Given the description of an element on the screen output the (x, y) to click on. 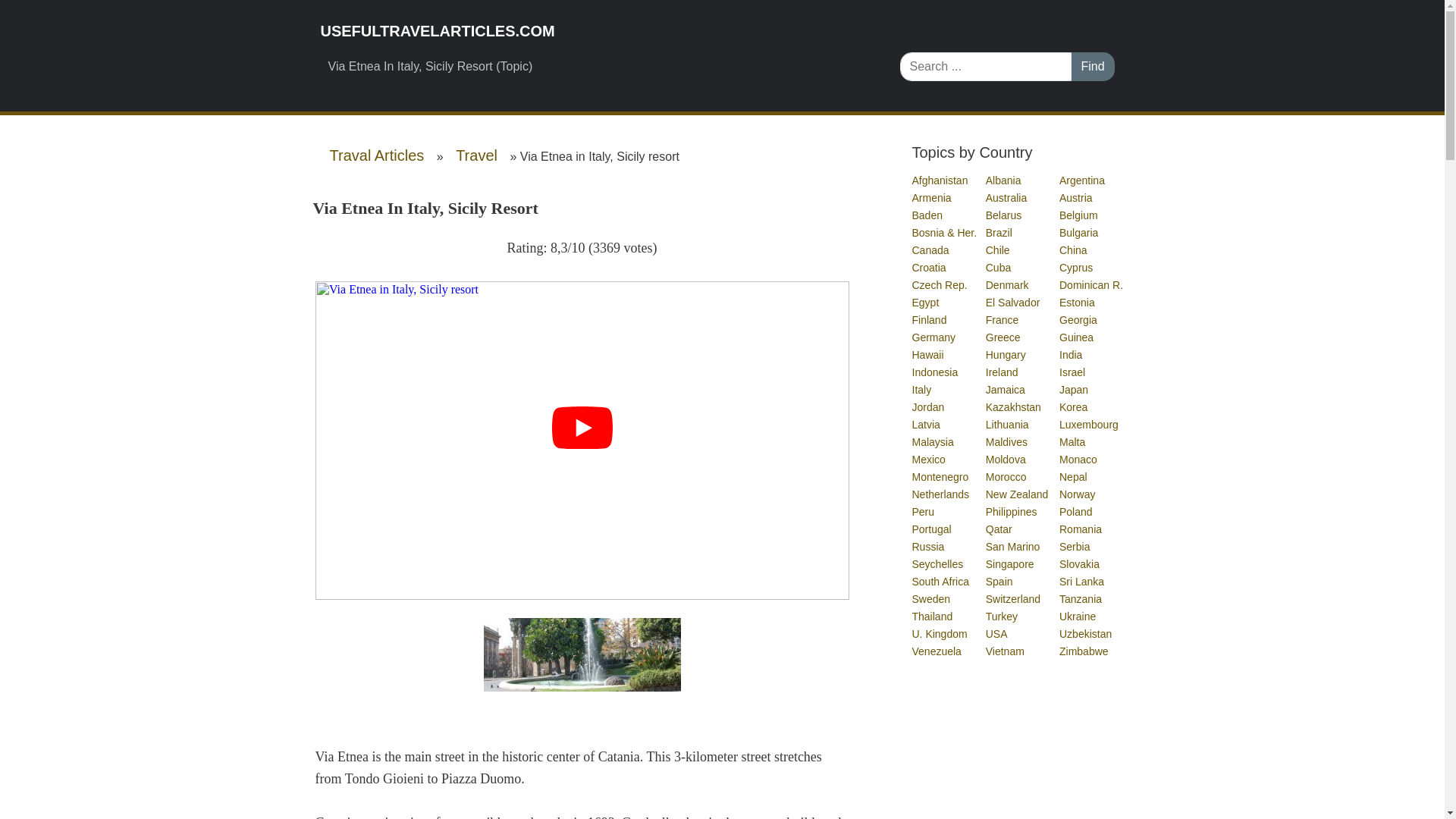
Estonia (1077, 302)
Brazil (999, 232)
Chile (998, 250)
Armenia (931, 197)
Cyprus (1076, 267)
Finland (929, 319)
Egypt (925, 302)
Croatia (929, 267)
Travel (476, 155)
Austria (1076, 197)
Georgia (1079, 319)
Cuba (998, 267)
Afghanistan (940, 180)
Belgium (1079, 215)
Canada (930, 250)
